Given the description of an element on the screen output the (x, y) to click on. 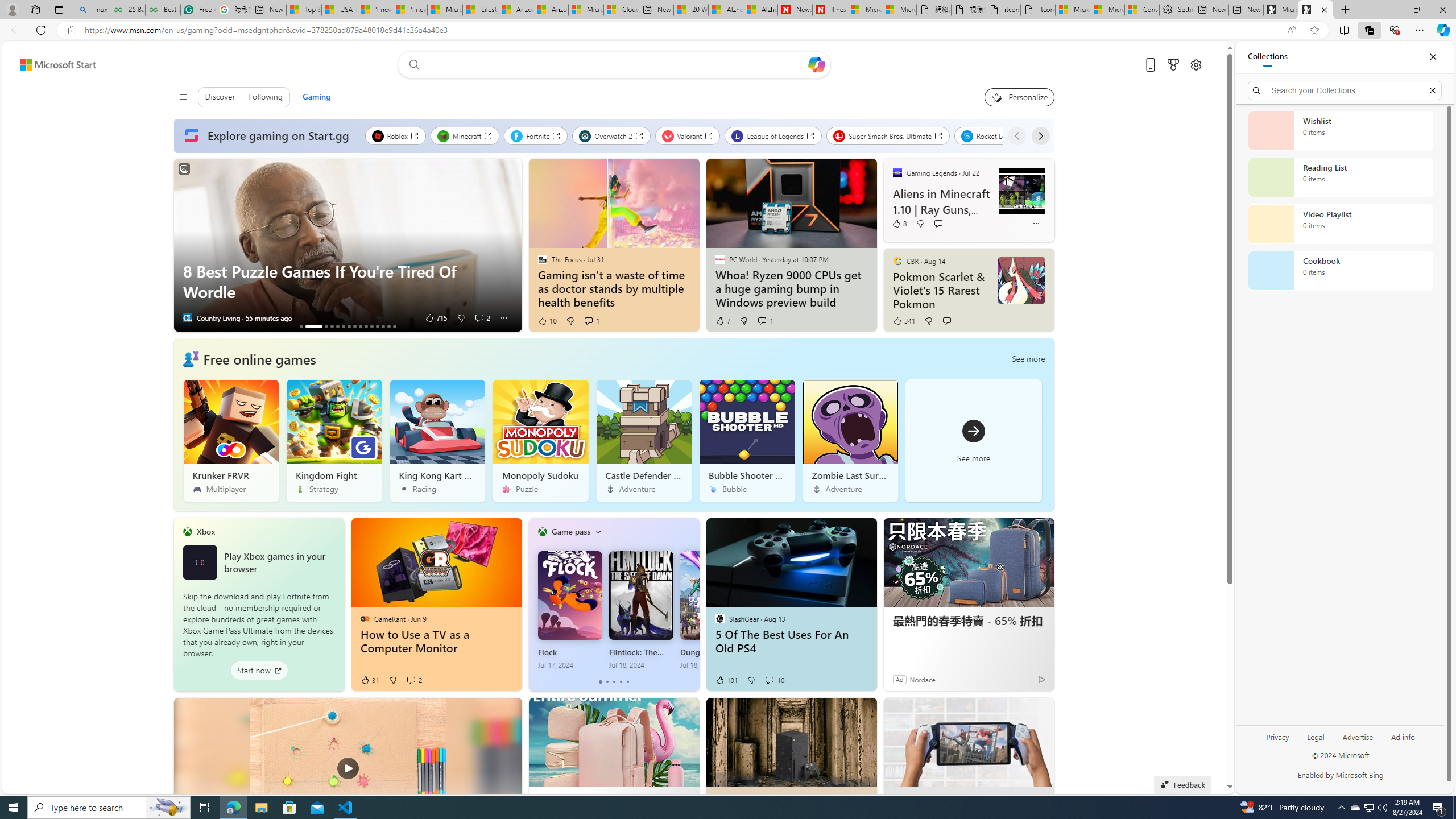
Flintlock: The Siege of Dawn Jul 18, 2024 (640, 610)
Next (1039, 135)
AutomationID: tab_nativead-infopane-11 (371, 326)
Pokmon Scarlet & Violet's 15 Rarest Pokmon (941, 290)
AutomationID: tab_nativead-infopane-3 (325, 326)
Select Category (598, 531)
Enter your search term (617, 64)
Roblox (395, 135)
